Given the description of an element on the screen output the (x, y) to click on. 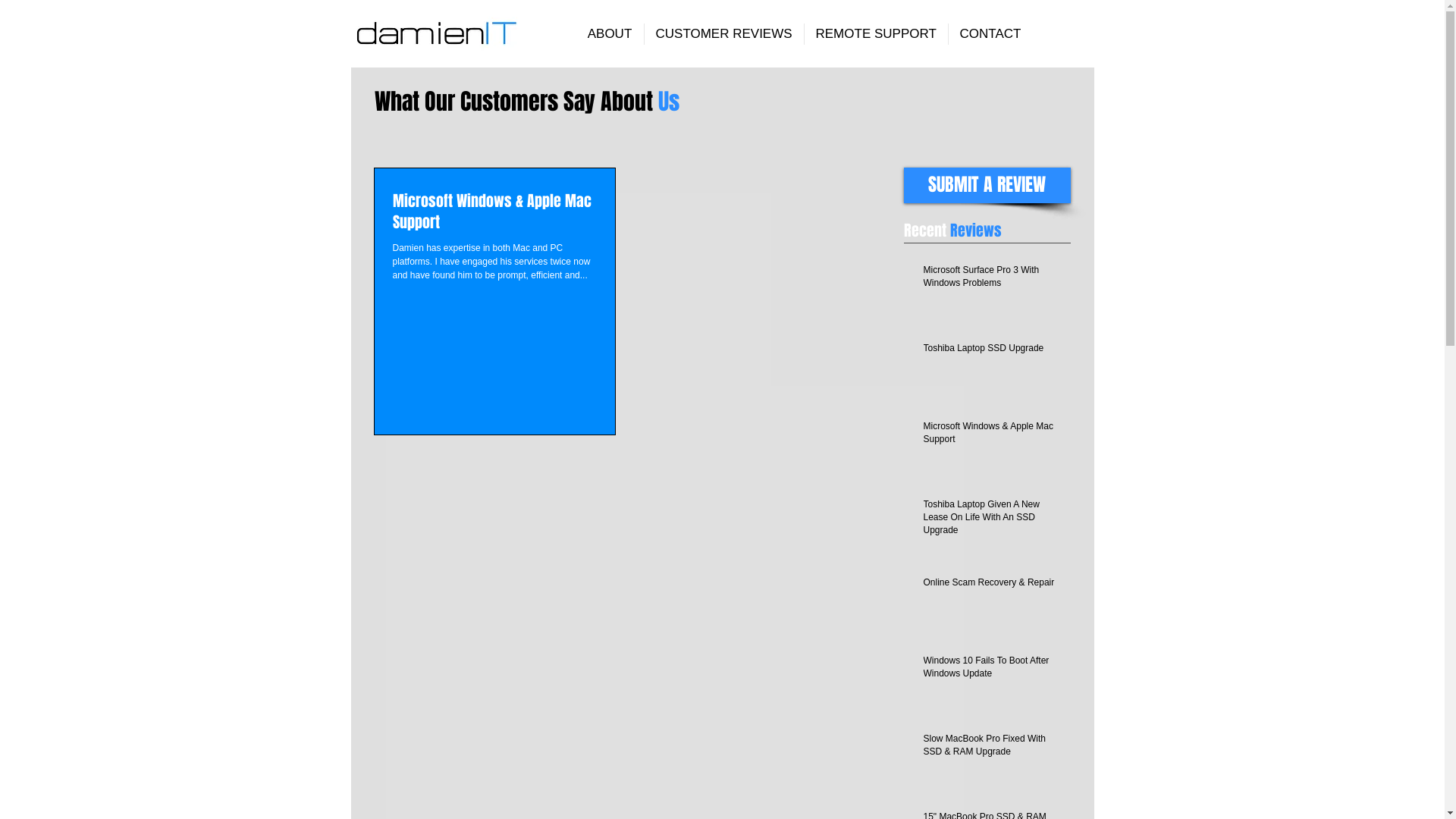
Slow MacBook Pro Fixed With SSD & RAM Upgrade Element type: text (992, 748)
CUSTOMER REVIEWS Element type: text (723, 33)
Windows 10 Fails To Boot After Windows Update Element type: text (992, 670)
Toshiba Laptop SSD Upgrade Element type: text (992, 351)
Toshiba Laptop Given A New Lease On Life With An SSD Upgrade Element type: text (992, 520)
Microsoft Windows & Apple Mac Support Element type: text (494, 211)
CONTACT Element type: text (989, 33)
SUBMIT A REVIEW Element type: text (986, 185)
REMOTE SUPPORT Element type: text (875, 33)
Microsoft Windows & Apple Mac Support Element type: text (992, 435)
Microsoft Surface Pro 3 With Windows Problems Element type: text (992, 279)
Online Scam Recovery & Repair Element type: text (992, 585)
ABOUT Element type: text (609, 33)
